Given the description of an element on the screen output the (x, y) to click on. 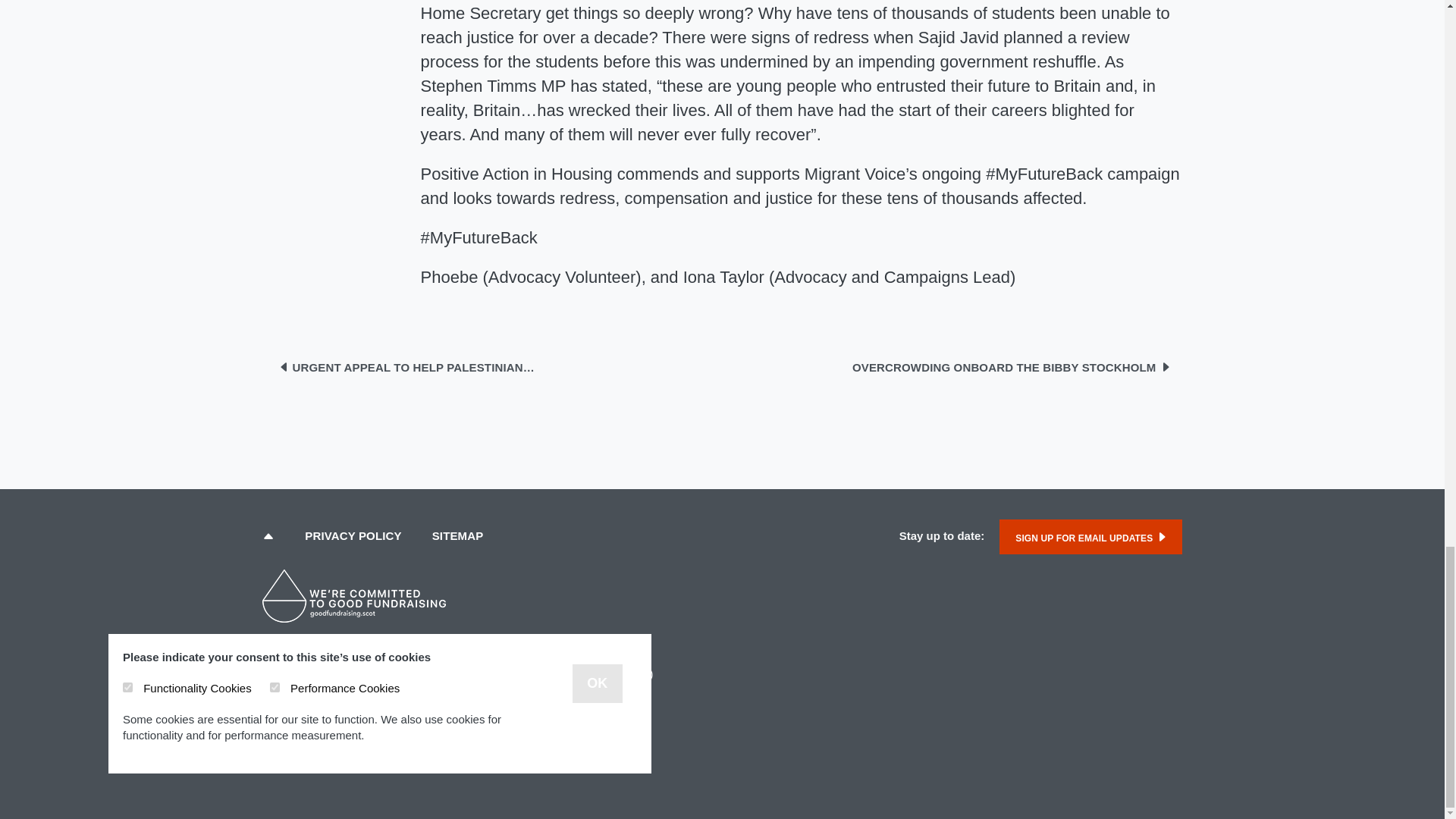
Urgent appeal to help Palestinian family evacuate from Gaza (406, 367)
Overcrowding Onboard the Bibby Stockholm (1011, 367)
